Given the description of an element on the screen output the (x, y) to click on. 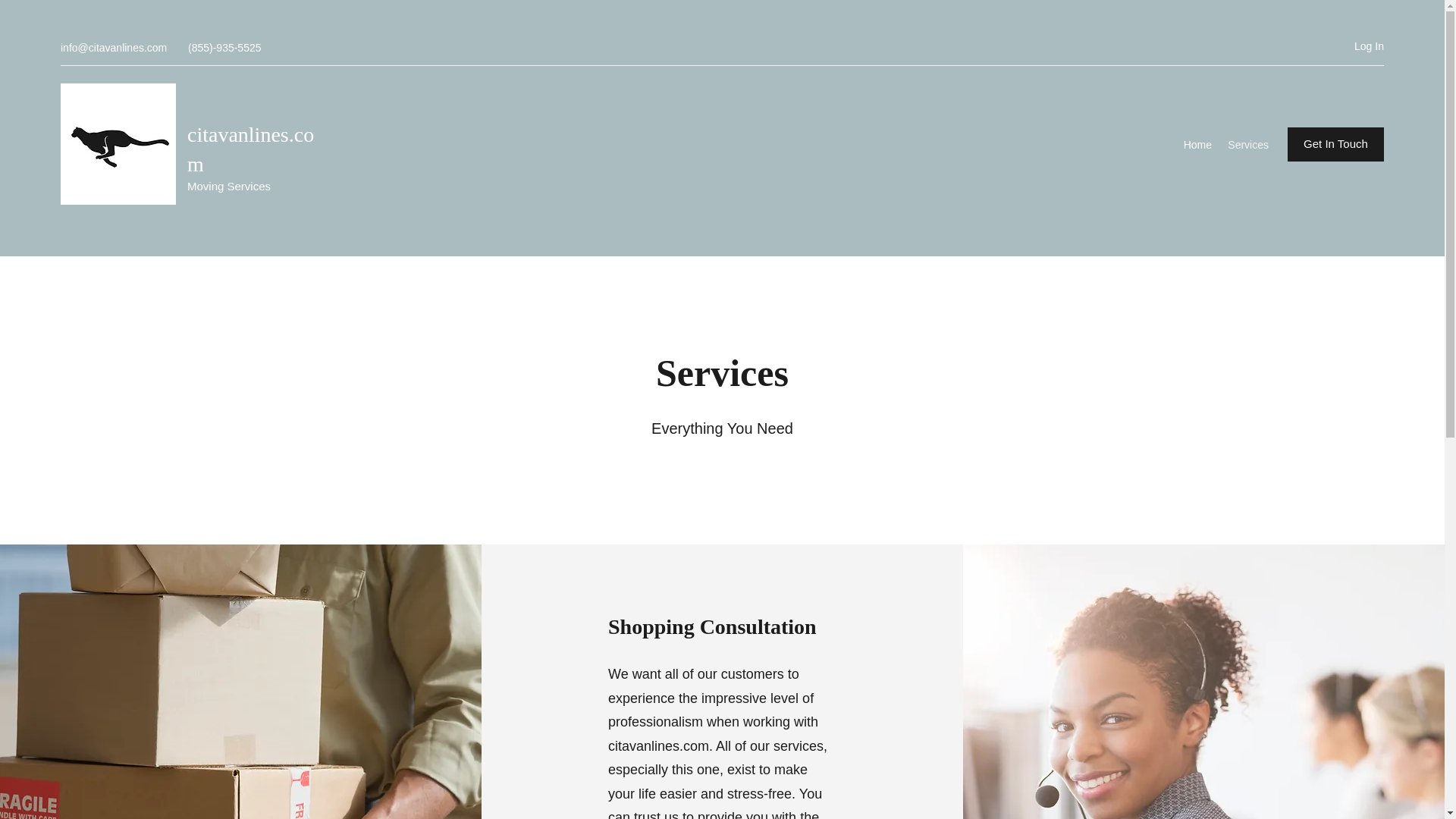
Log In (1350, 46)
Services (1248, 144)
citavanlines.com (250, 149)
Home (1197, 144)
